Given the description of an element on the screen output the (x, y) to click on. 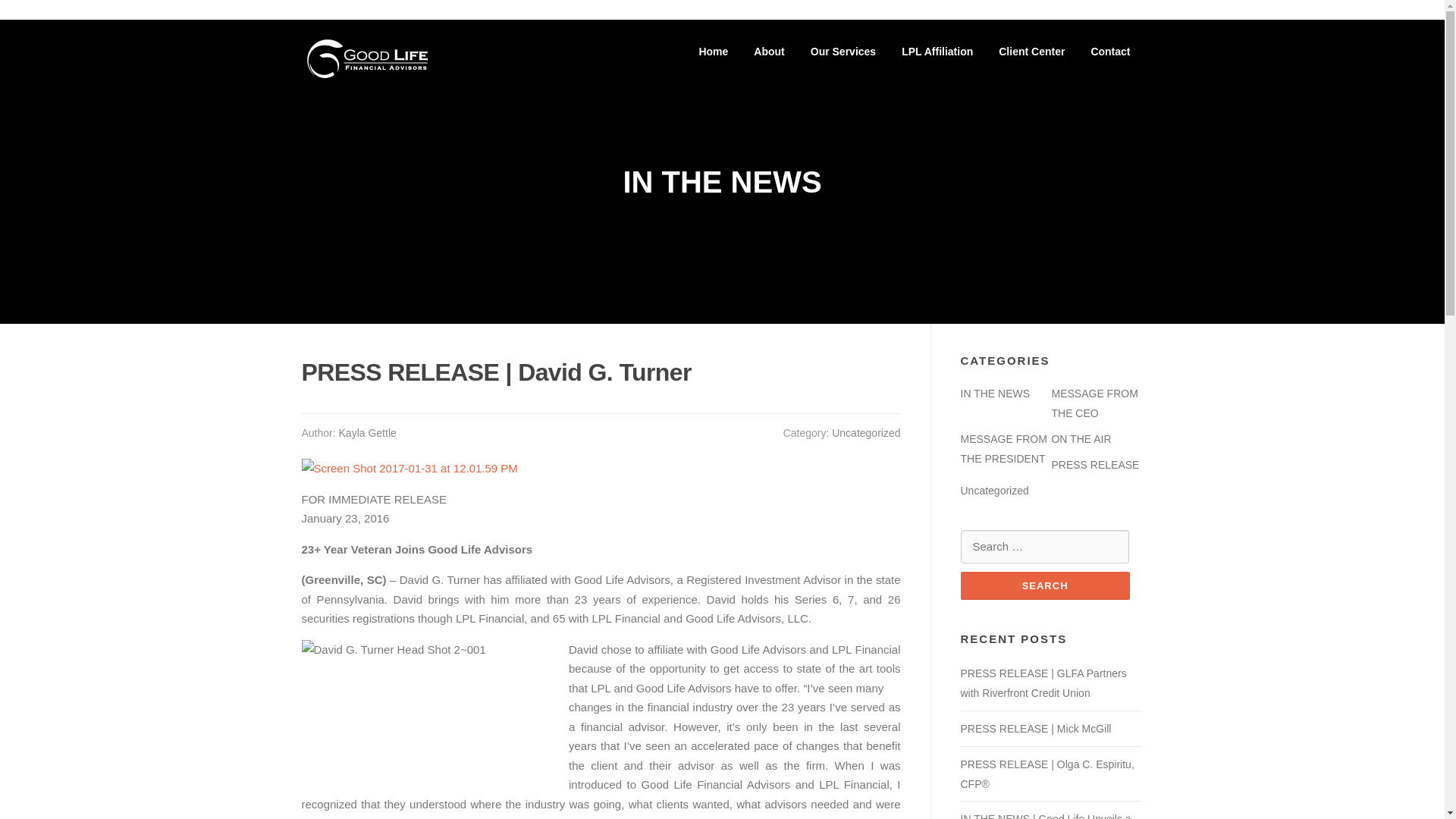
Client Center (1031, 51)
Kayla Gettle (367, 432)
Search (1044, 585)
IN THE NEWS (994, 393)
Our Services (842, 51)
Contact (1109, 51)
MESSAGE FROM THE CEO (1094, 403)
MESSAGE FROM THE PRESIDENT (1002, 449)
Uncategorized (993, 490)
Search (1044, 585)
LPL Affiliation (936, 51)
Uncategorized (865, 432)
Search (1044, 585)
ON THE AIR (1080, 439)
